Given the description of an element on the screen output the (x, y) to click on. 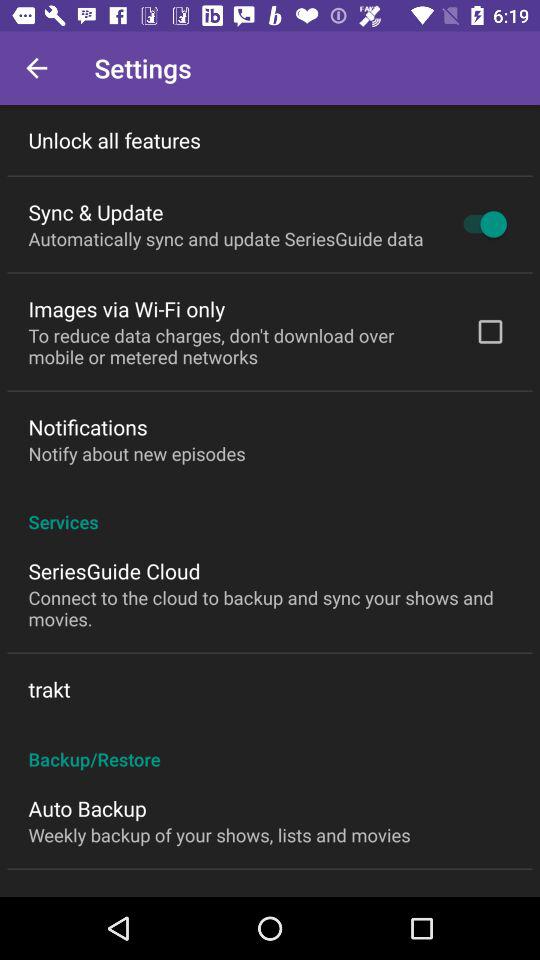
select to reduce data (238, 346)
